Given the description of an element on the screen output the (x, y) to click on. 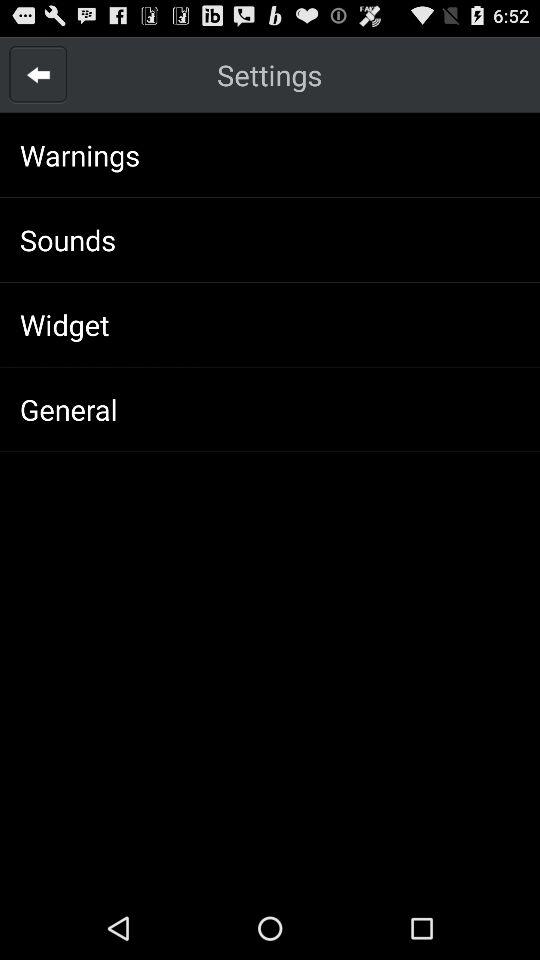
open the icon above widget app (67, 239)
